Given the description of an element on the screen output the (x, y) to click on. 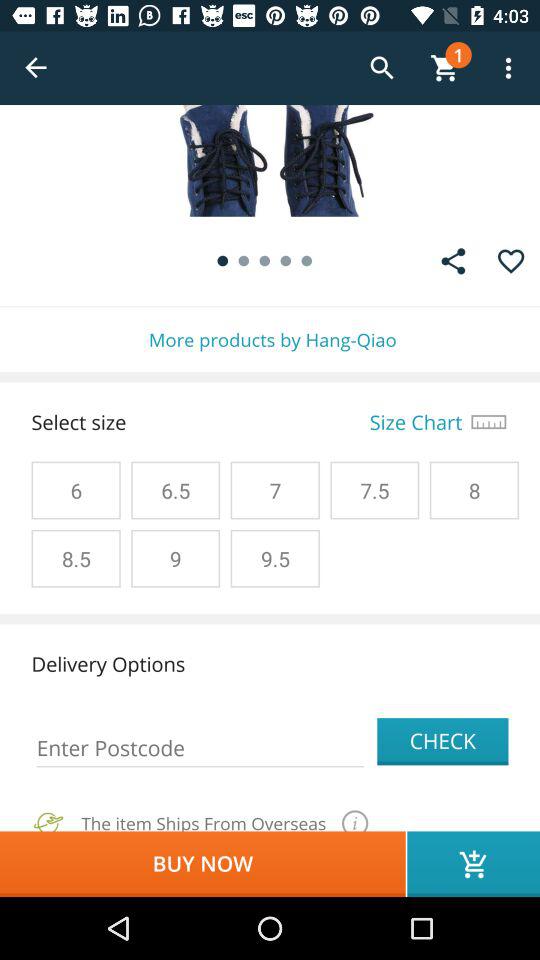
go to opinion section (453, 261)
